Given the description of an element on the screen output the (x, y) to click on. 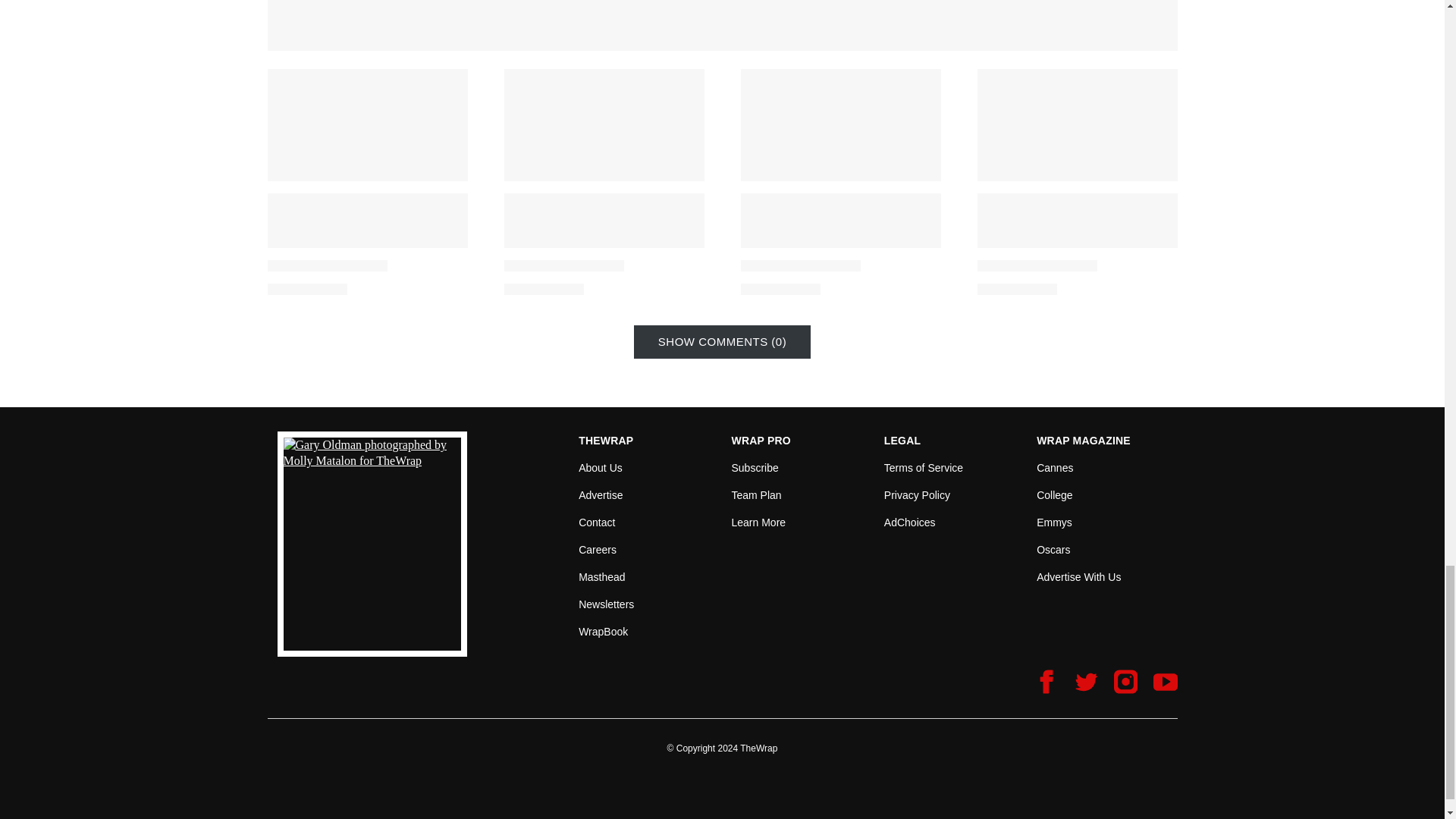
Learn more about becoming a member (758, 522)
